Given the description of an element on the screen output the (x, y) to click on. 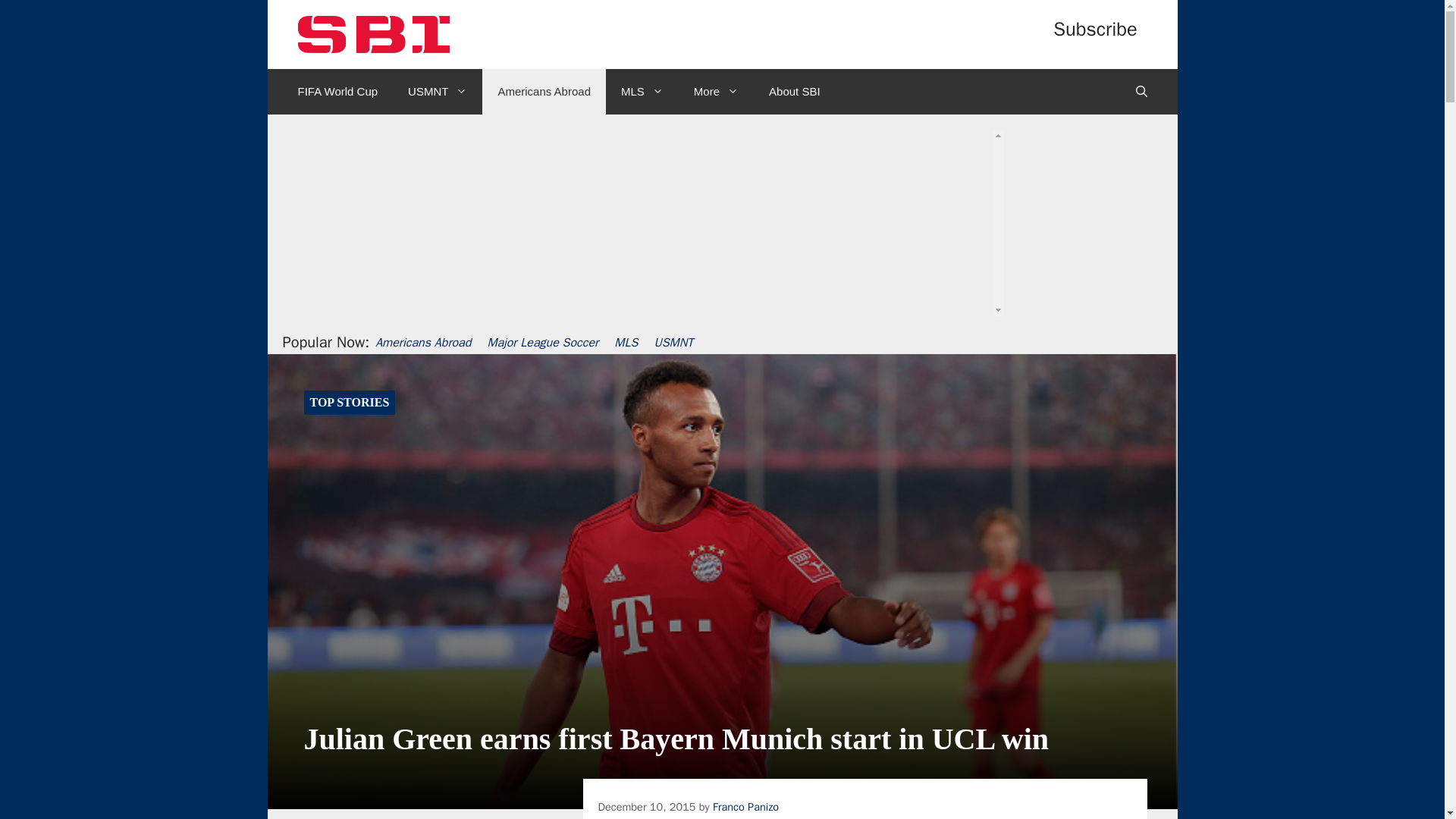
USMNT (437, 91)
Subscribe (1094, 28)
FIFA World Cup (337, 91)
View all posts by Franco Panizo (745, 807)
Advertisement (716, 256)
MLS (641, 91)
Americans Abroad (543, 91)
